Given the description of an element on the screen output the (x, y) to click on. 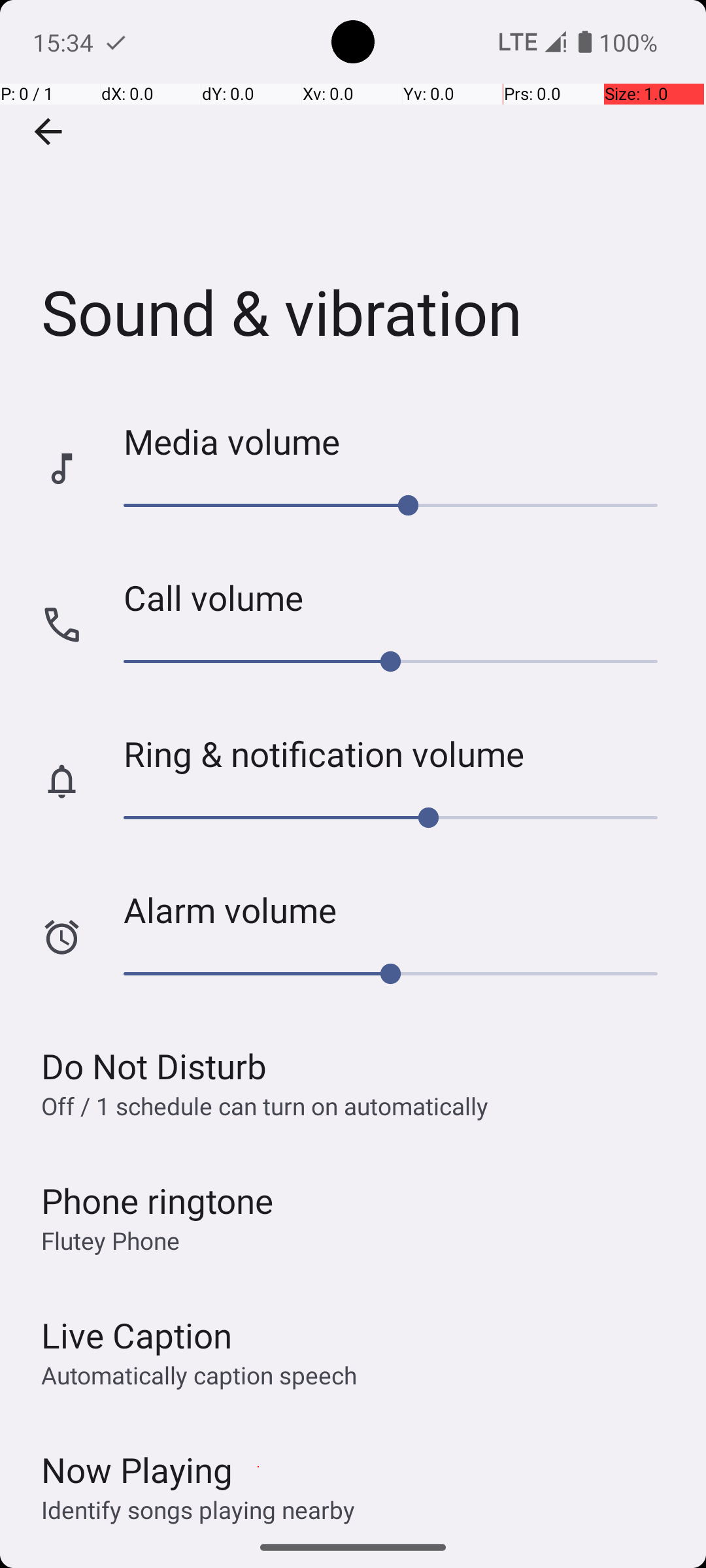
Off / 1 schedule can turn on automatically Element type: android.widget.TextView (264, 1105)
